Given the description of an element on the screen output the (x, y) to click on. 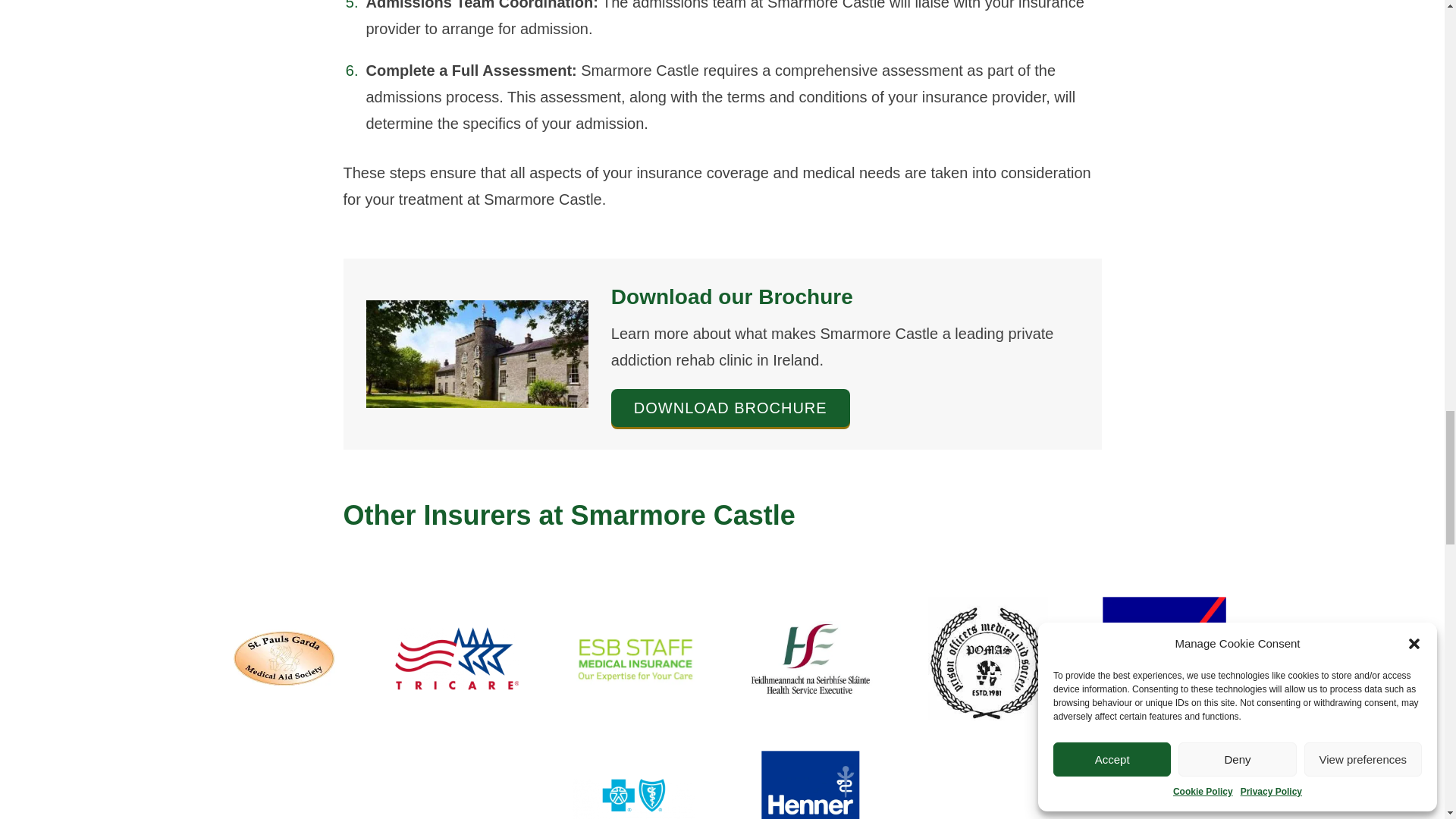
Visit the Henner Insurance website (810, 785)
Visit the Tricare website (457, 658)
Visit the Health Service Executive website (810, 658)
Visit the St. Pauls Garda Medical Aid Society website (279, 658)
Visit the Geo Blue Health Insurance website (633, 785)
Download Smarmore-Castle Brochure-Jun-2024 (730, 407)
Visit the Prison Officers Medical Aid Society website (987, 658)
Visit the ESB Staff Medical Insurance website (633, 658)
Visit the AXA Health Insurance website (1164, 658)
